Given the description of an element on the screen output the (x, y) to click on. 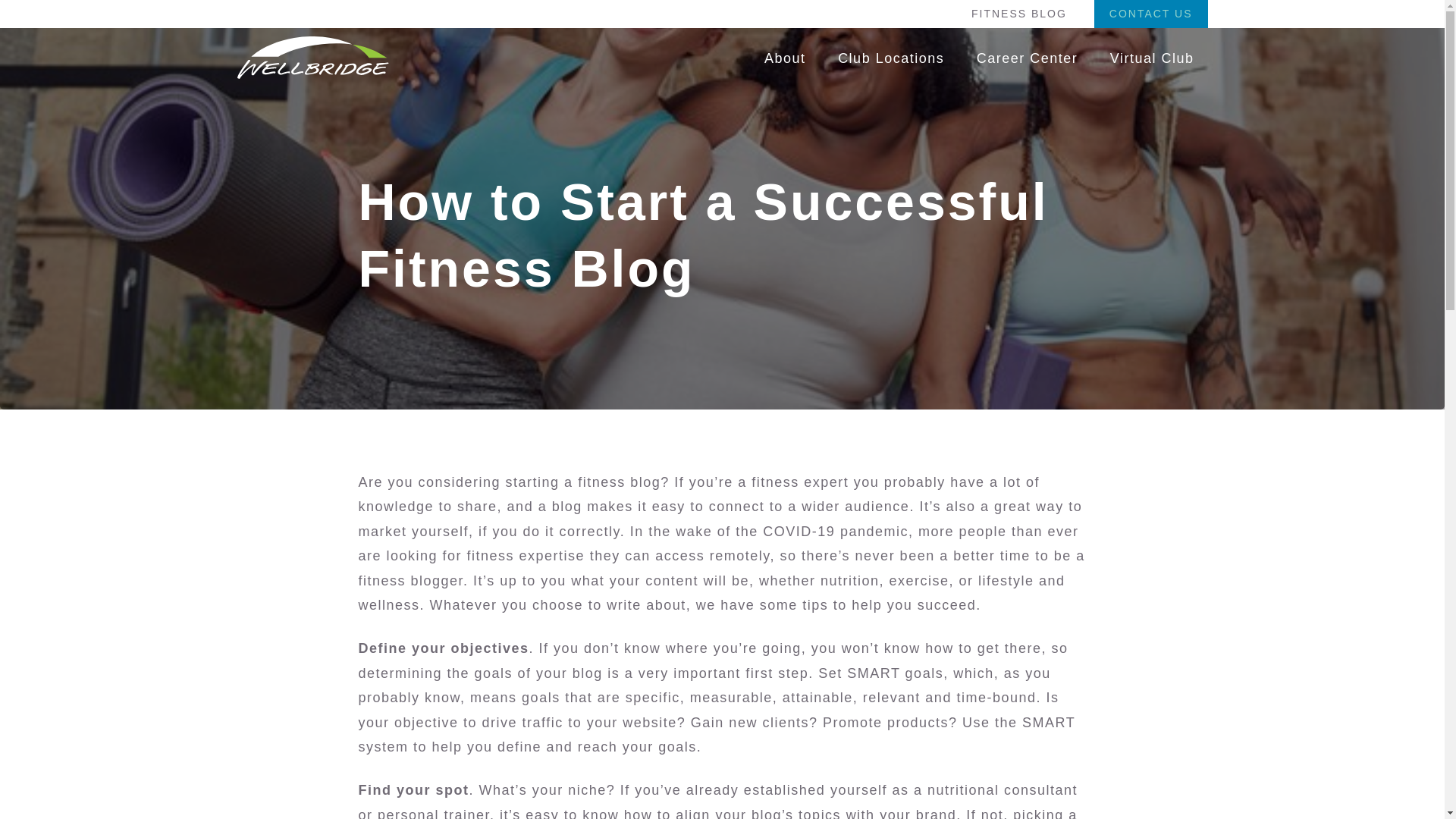
About (785, 57)
Login (552, 550)
CONTACT US (1151, 13)
Career Center (1027, 57)
FITNESS BLOG (1018, 13)
Virtual Club (1152, 57)
Club Locations (891, 57)
